Given the description of an element on the screen output the (x, y) to click on. 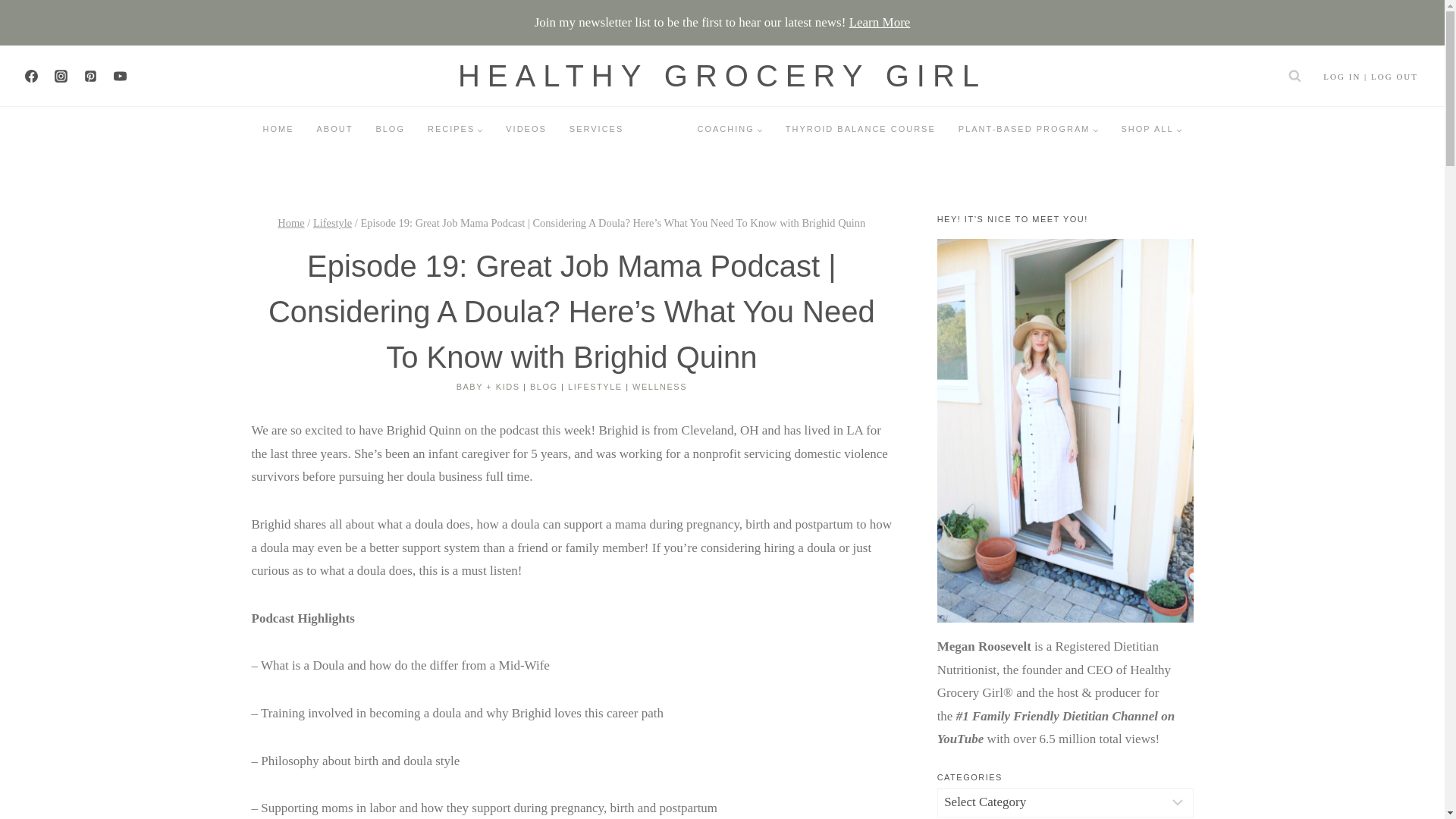
PLANT-BASED PROGRAM (1028, 129)
SHOP ALL (1151, 129)
Learn More (879, 22)
HEALTHY GROCERY GIRL (722, 75)
THYROID BALANCE COURSE (860, 129)
HOME (278, 129)
SERVICES (595, 129)
COACHING (729, 129)
ABOUT (334, 129)
VIDEOS (526, 129)
BLOG (390, 129)
RECIPES (455, 129)
